Given the description of an element on the screen output the (x, y) to click on. 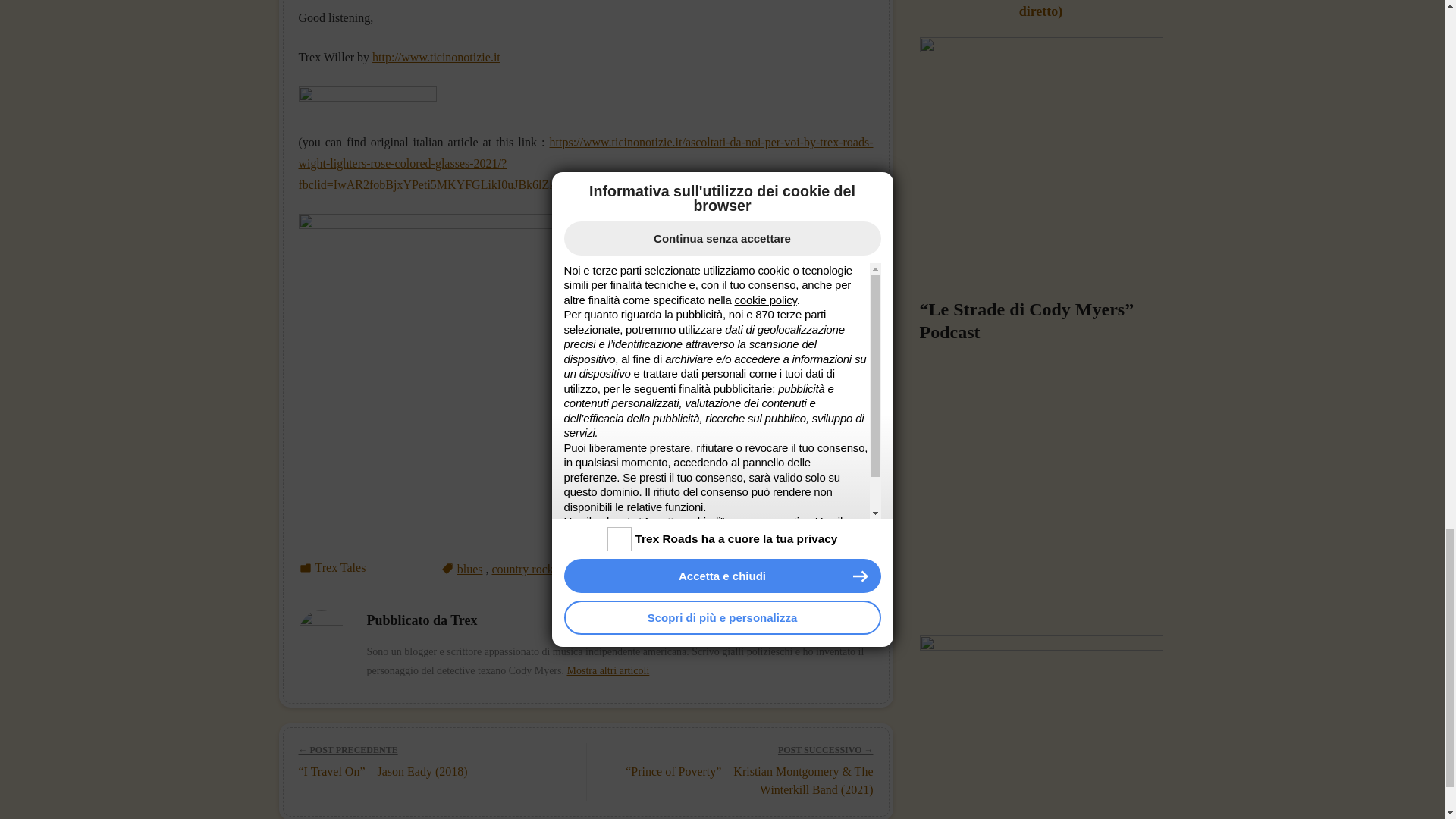
blues (470, 568)
red dirt (637, 568)
weight lighters (836, 568)
Trex Tales (340, 567)
oklahoma (586, 568)
rock (674, 568)
Mostra altri articoli (607, 670)
country rock (522, 568)
rose colored glasses (743, 568)
